Given the description of an element on the screen output the (x, y) to click on. 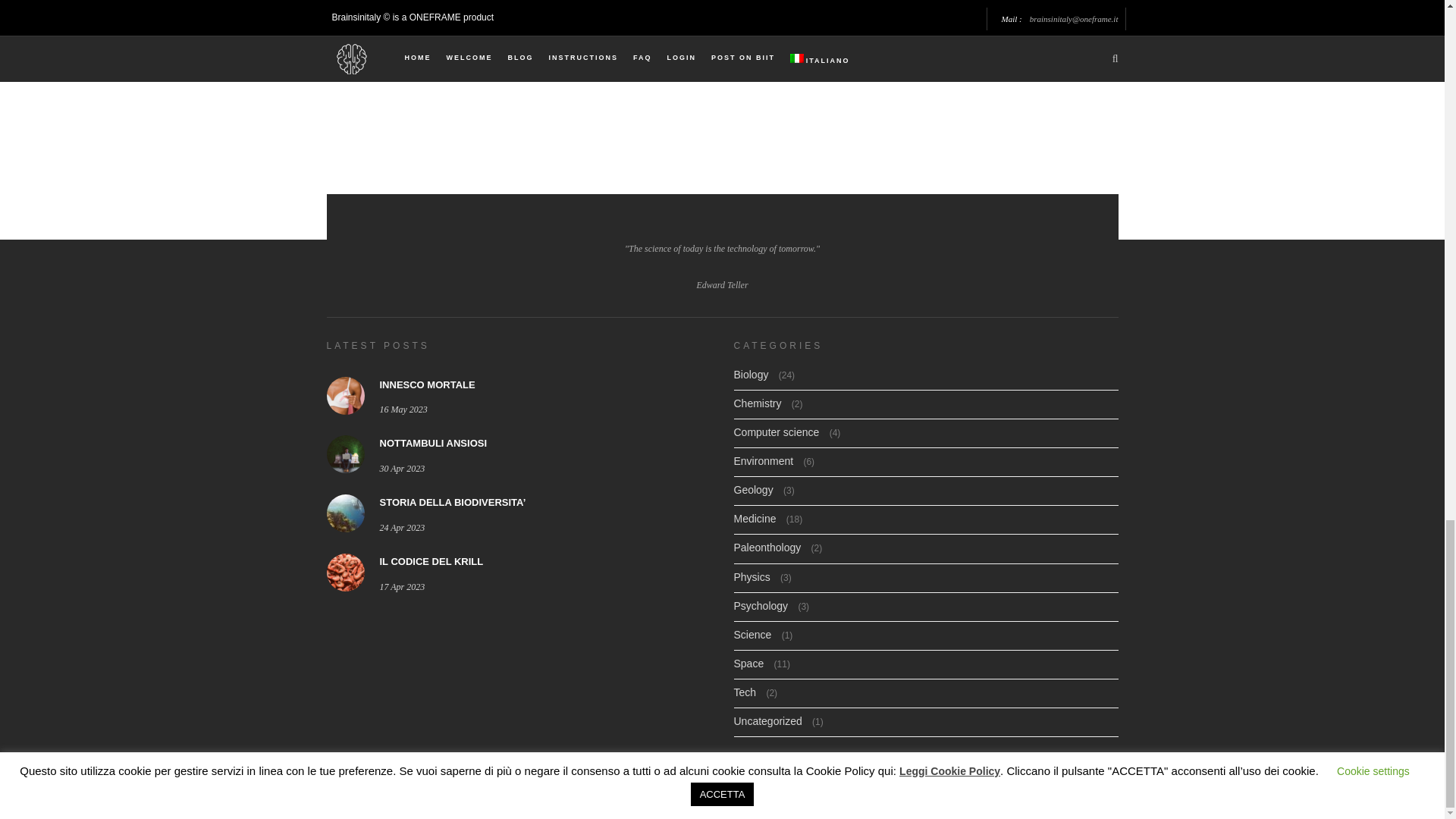
INNESCO MORTALE (426, 384)
NOTTAMBULI ANSIOSI (432, 442)
IL CODICE DEL KRILL (430, 561)
